Given the description of an element on the screen output the (x, y) to click on. 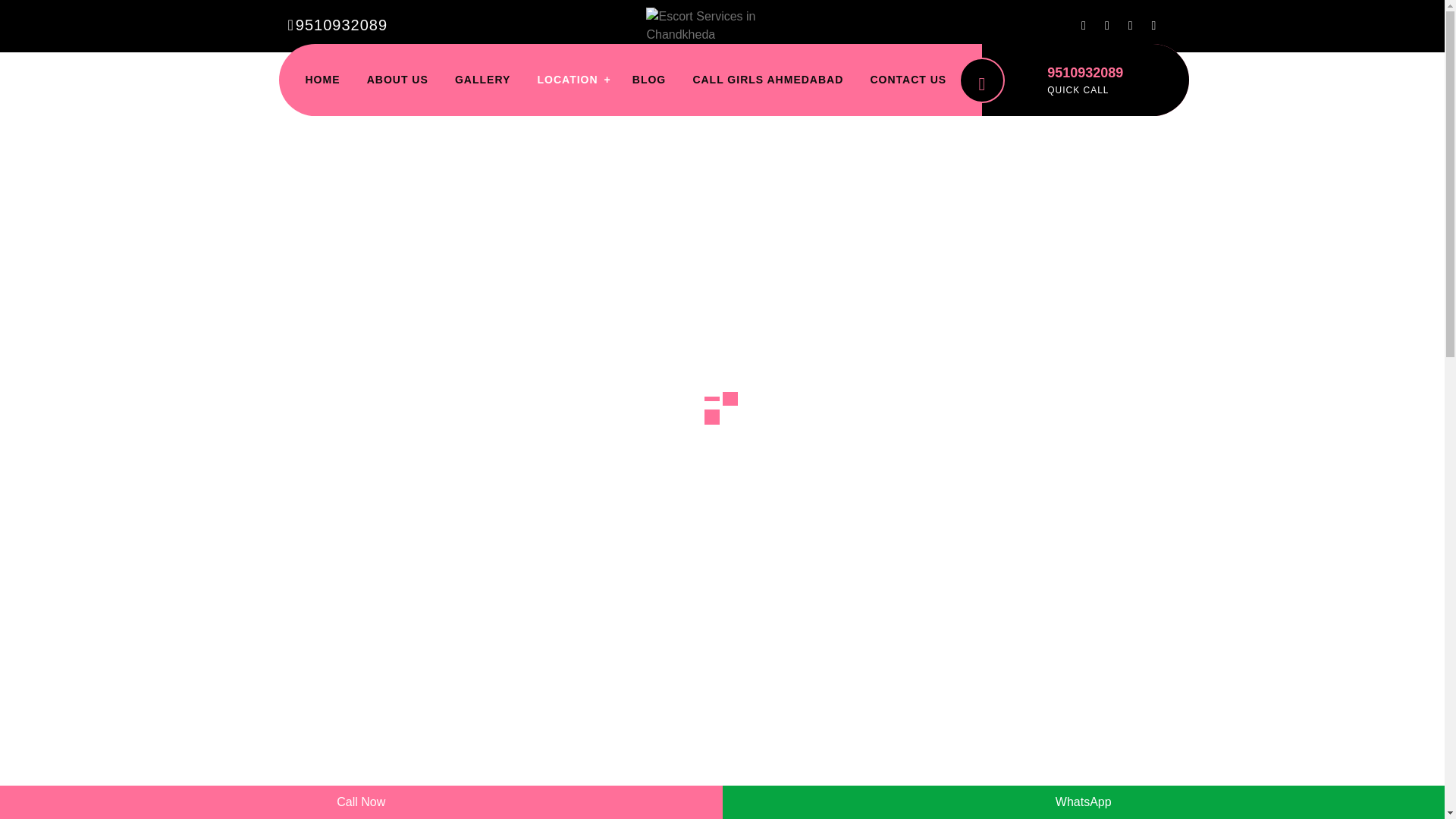
Chandkheda Escorts Service (664, 626)
Escort Services in Chandkheda (721, 25)
Escort Services in Chandkheda (373, 474)
HOME (321, 80)
ABOUT US (397, 80)
Escort Services in Chandkheda (373, 433)
GALLERY (482, 80)
9510932089 (337, 24)
LOCATION (567, 80)
